Given the description of an element on the screen output the (x, y) to click on. 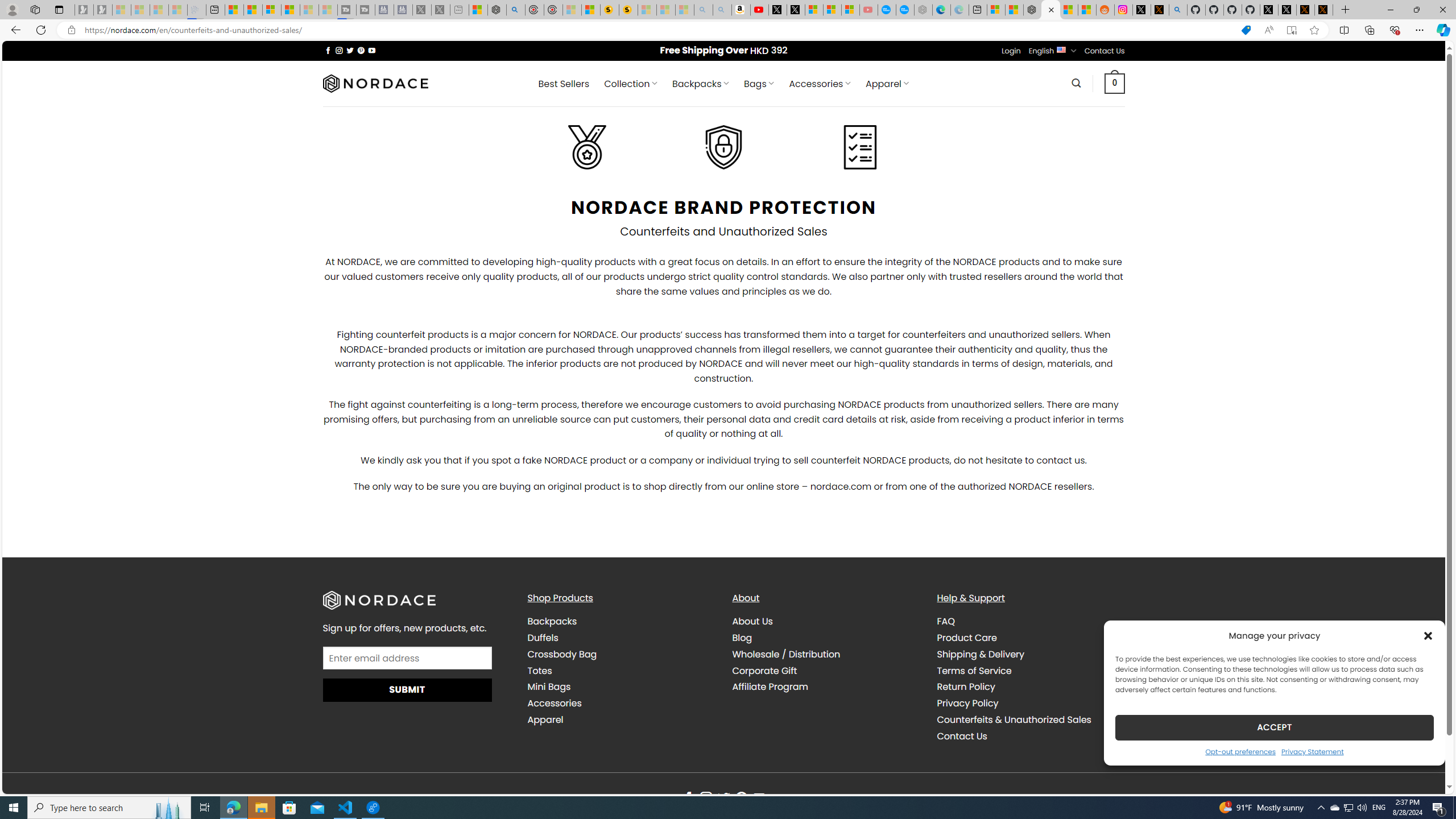
Shipping & Delivery (980, 653)
Amazon Echo Dot PNG - Search Images - Sleeping (721, 9)
Microsoft Start - Sleeping (309, 9)
Terms of Service (973, 670)
Corporate Gift (826, 670)
Apparel (545, 719)
Submit (406, 689)
